Given the description of an element on the screen output the (x, y) to click on. 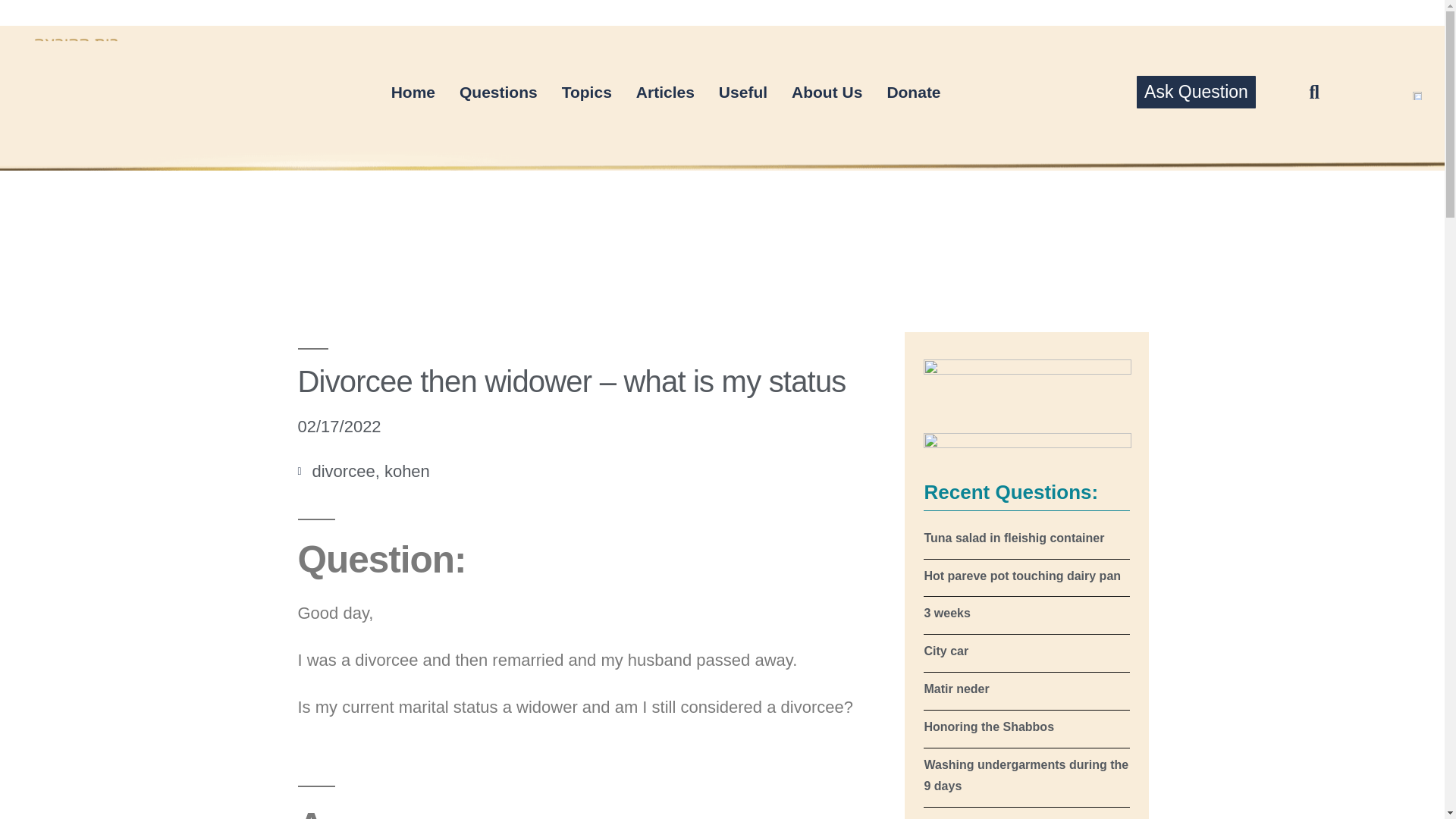
Ask Question (1196, 92)
Topics (587, 92)
Donate (913, 92)
divorcee (344, 470)
Useful (742, 92)
About Us (826, 92)
kohen (406, 470)
Questions (498, 92)
Home (412, 92)
Articles (665, 92)
